Given the description of an element on the screen output the (x, y) to click on. 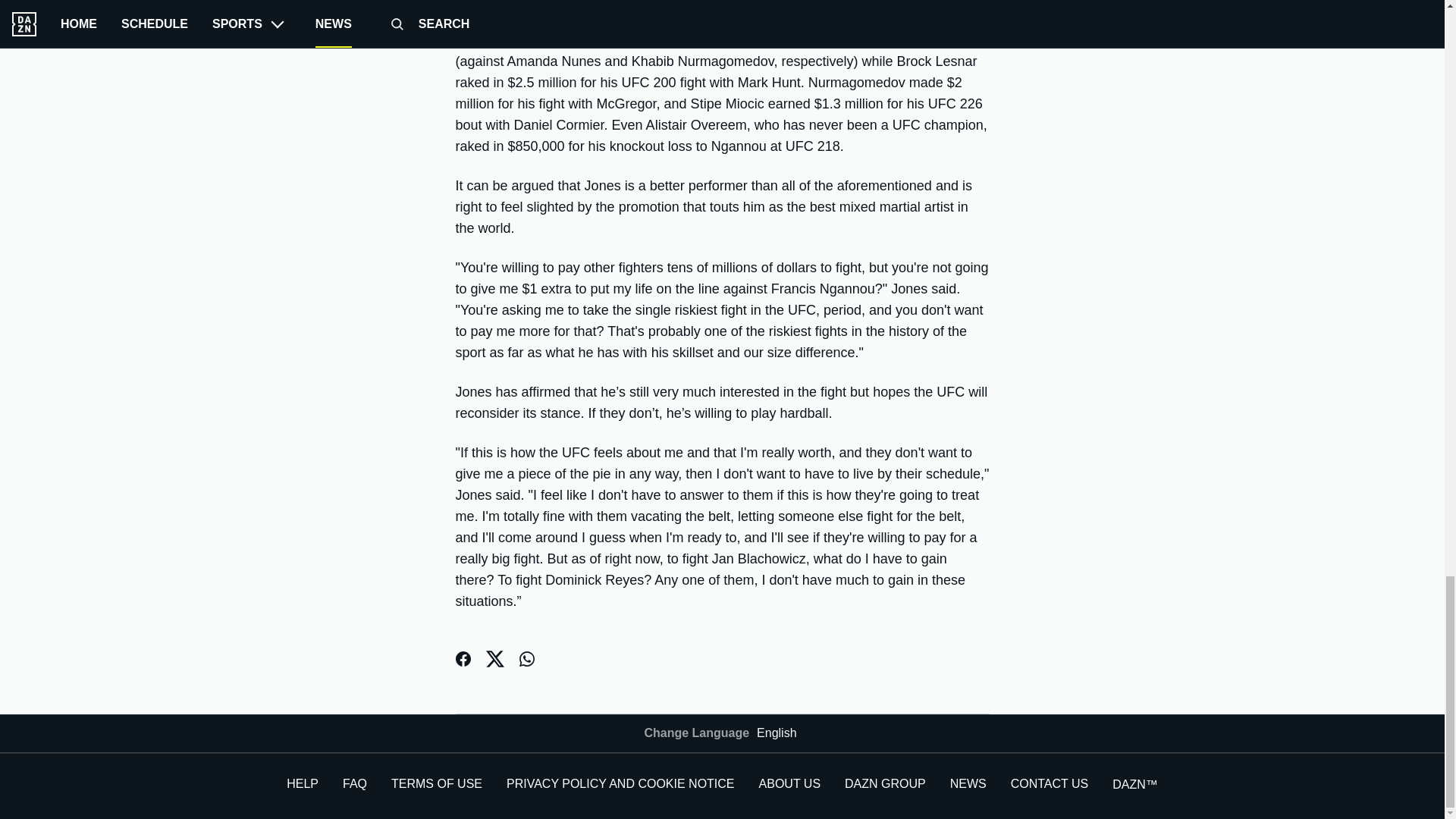
NEWS (968, 783)
DAZN GROUP (885, 783)
HELP (302, 783)
FAQ (354, 783)
CONTACT US (1049, 783)
TERMS OF USE (436, 783)
ABOUT US (789, 783)
PRIVACY POLICY AND COOKIE NOTICE (620, 783)
